Given the description of an element on the screen output the (x, y) to click on. 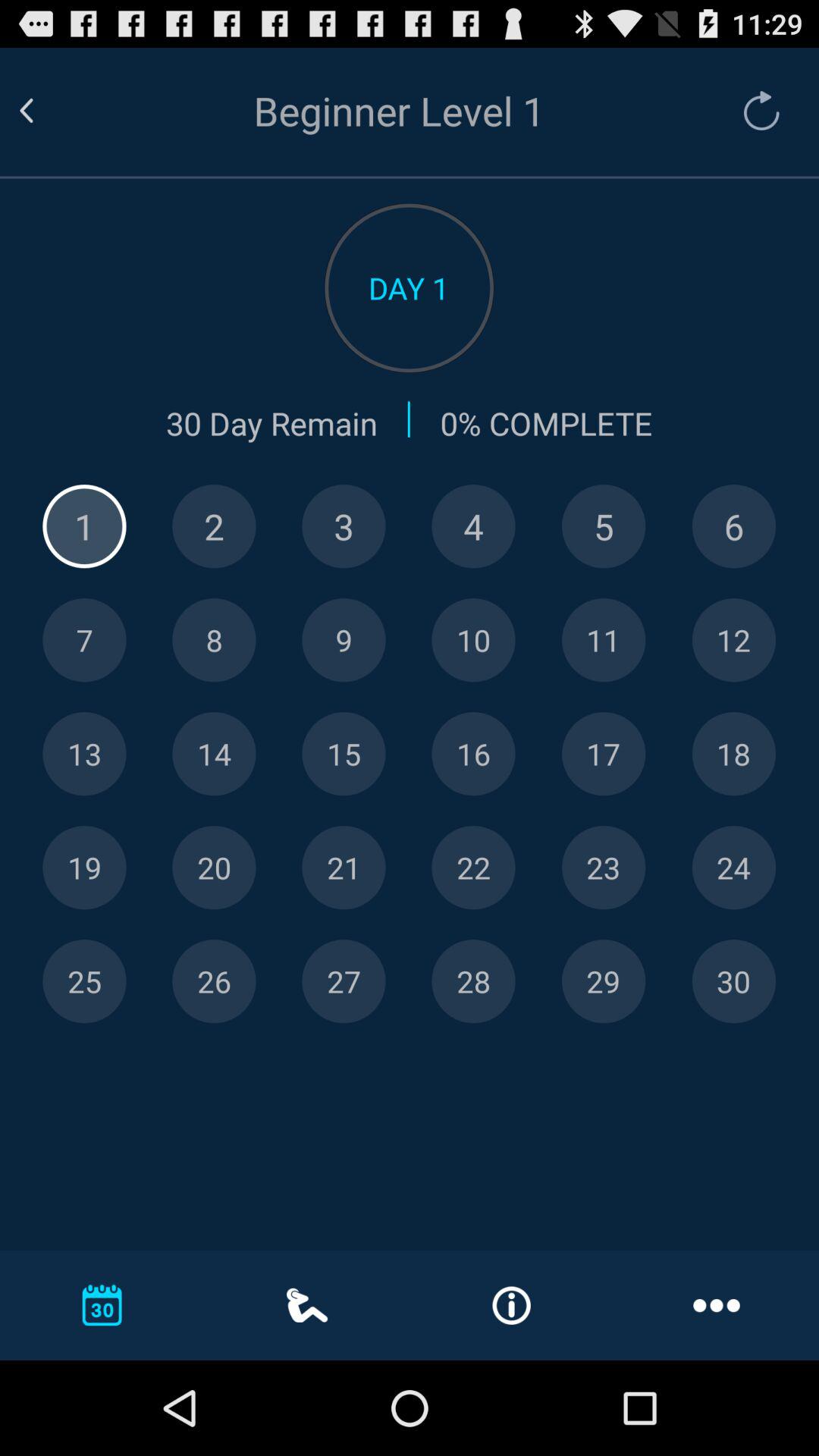
go to day 4 (473, 526)
